Given the description of an element on the screen output the (x, y) to click on. 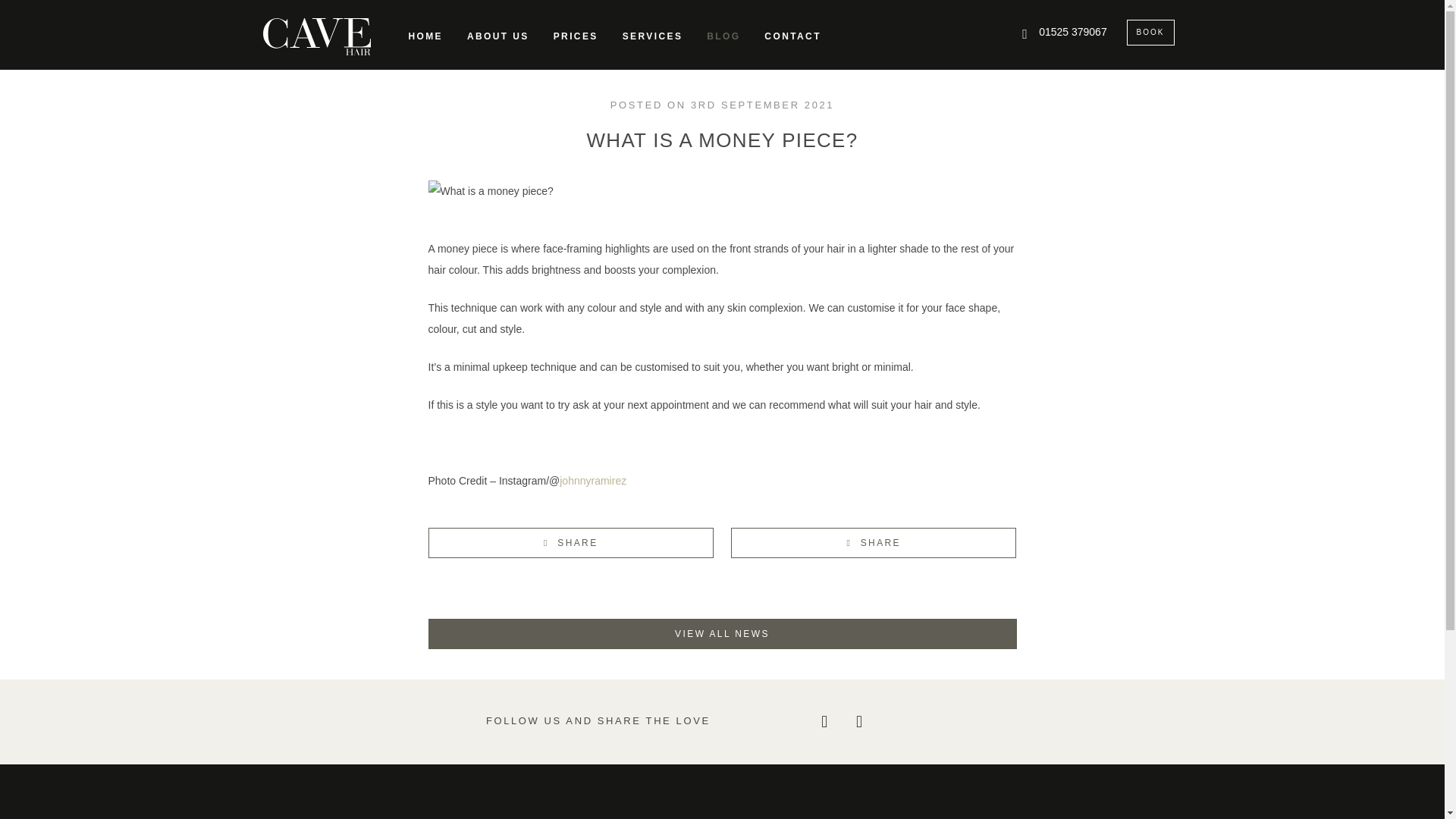
johnnyramirez (592, 480)
News (722, 634)
Call (1064, 33)
HOME (424, 36)
Facebook (828, 721)
  SHARE (570, 542)
PRICES (575, 36)
01525 379067 (1064, 33)
VIEW ALL NEWS (722, 634)
  SHARE (873, 542)
